Given the description of an element on the screen output the (x, y) to click on. 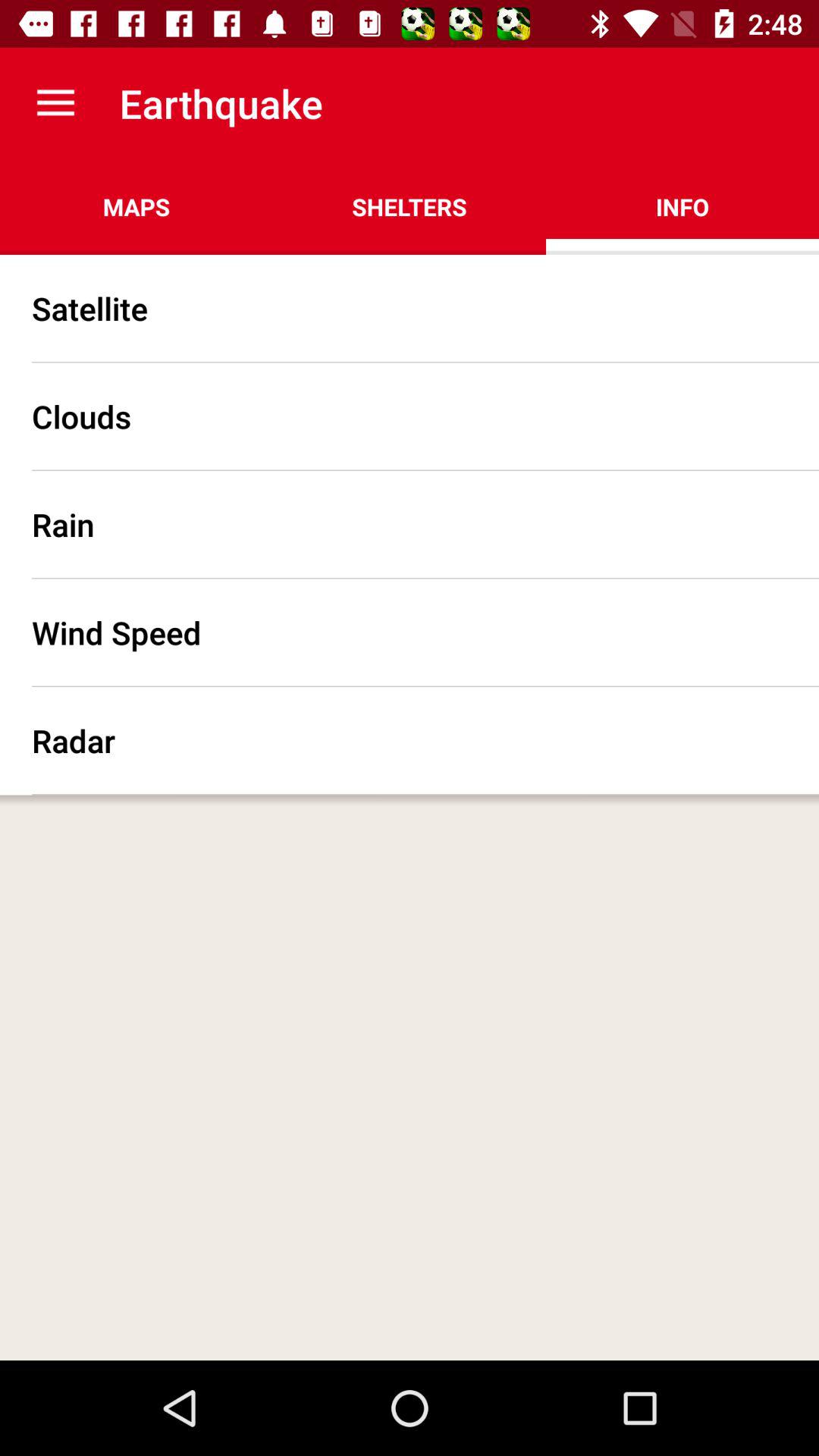
turn on the icon to the right of the maps (409, 206)
